Given the description of an element on the screen output the (x, y) to click on. 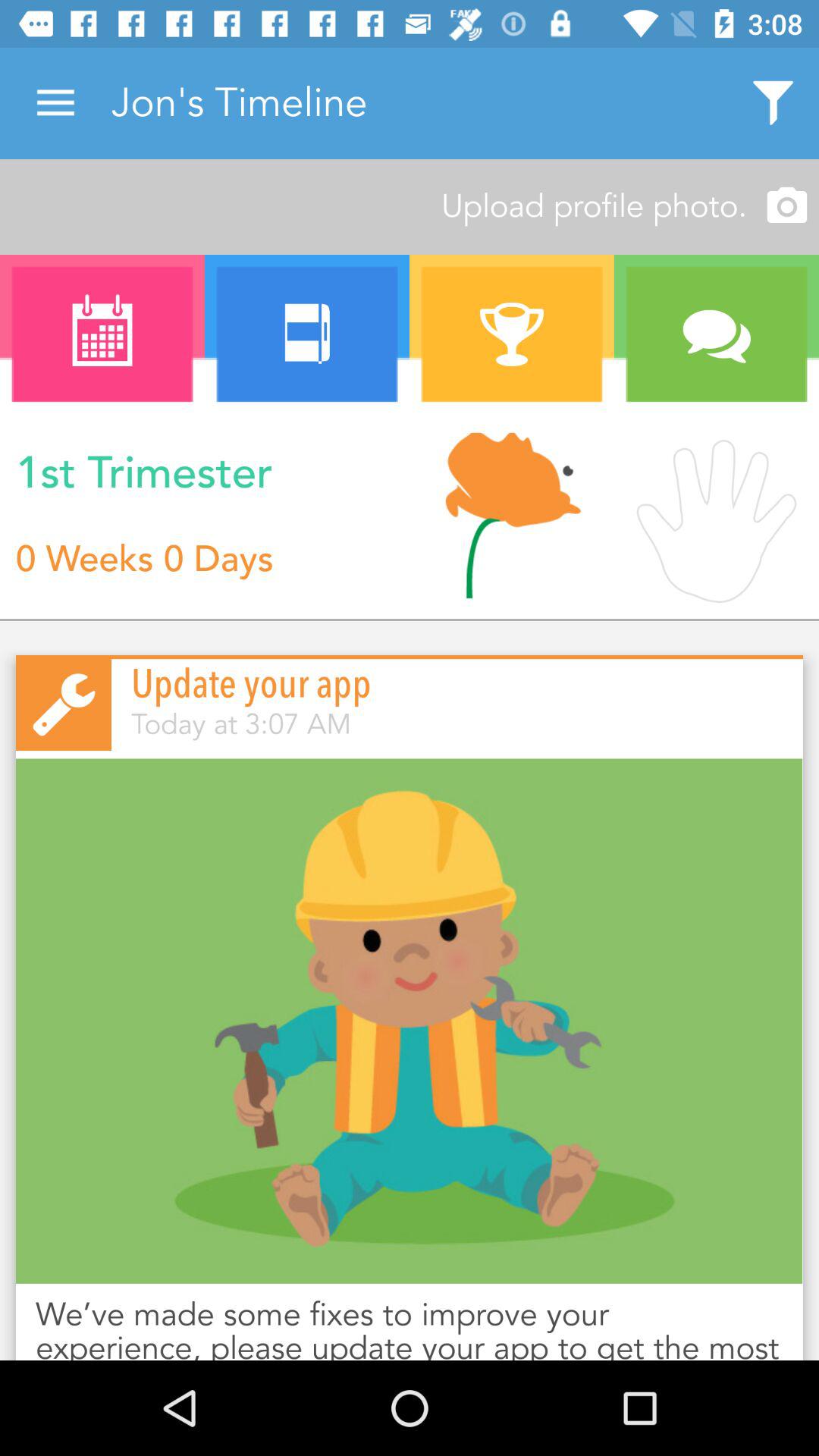
turn on icon next to the jon's timeline (55, 103)
